Given the description of an element on the screen output the (x, y) to click on. 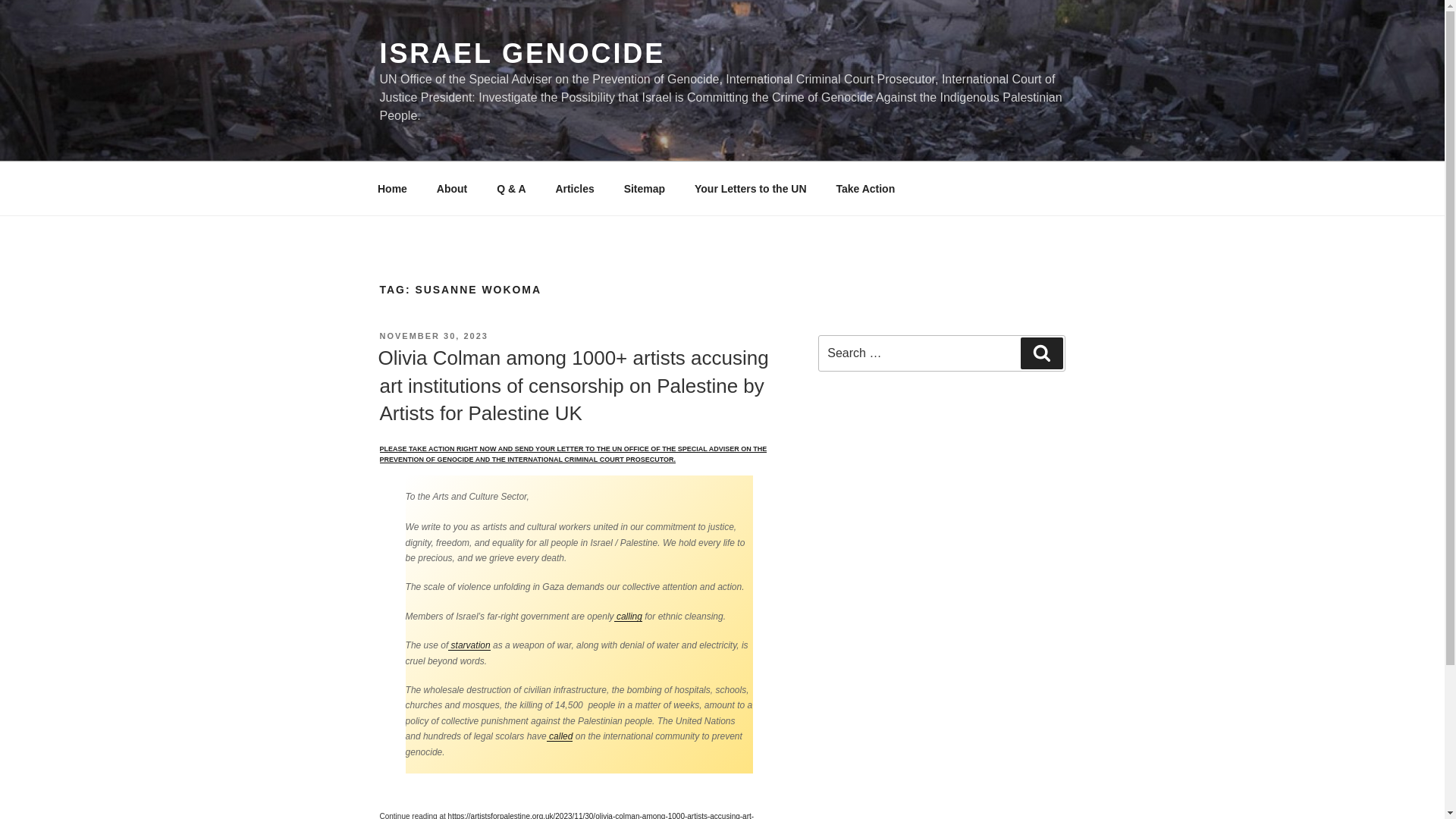
 called (560, 736)
ISRAEL GENOCIDE (521, 52)
Sitemap (644, 188)
Home (392, 188)
Your Letters to the UN (750, 188)
About (451, 188)
Search (1041, 353)
 calling (628, 615)
NOVEMBER 30, 2023 (432, 335)
Articles (574, 188)
 starvation (468, 644)
Take Action (865, 188)
